Given the description of an element on the screen output the (x, y) to click on. 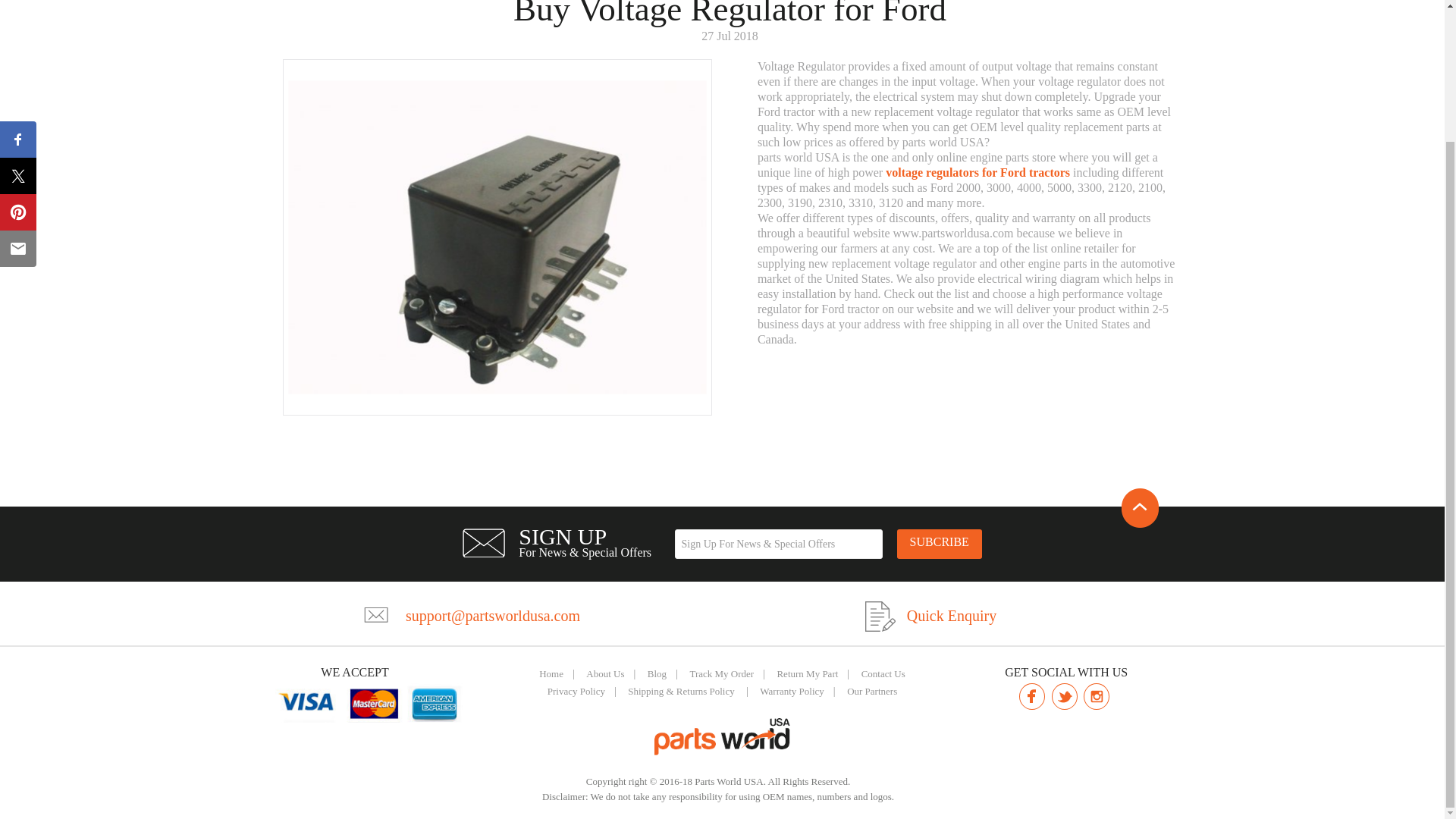
How PayPal Works (369, 701)
Buy Voltage Regulator for Ford (497, 237)
voltage regulators for Ford tractors (977, 172)
Quick Enquiry (951, 615)
SUBCRIBE (938, 543)
